Given the description of an element on the screen output the (x, y) to click on. 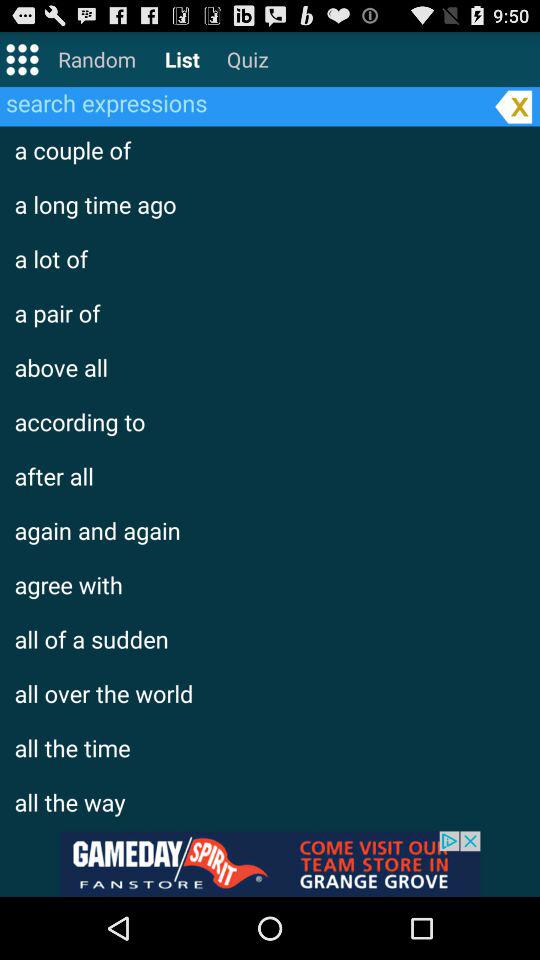
advertisement (270, 864)
